Given the description of an element on the screen output the (x, y) to click on. 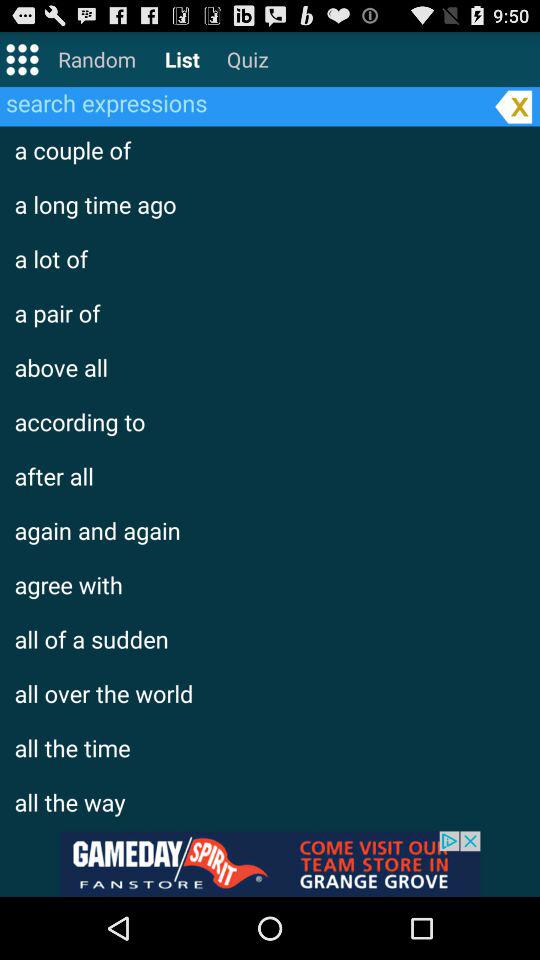
advertisement (270, 864)
